Given the description of an element on the screen output the (x, y) to click on. 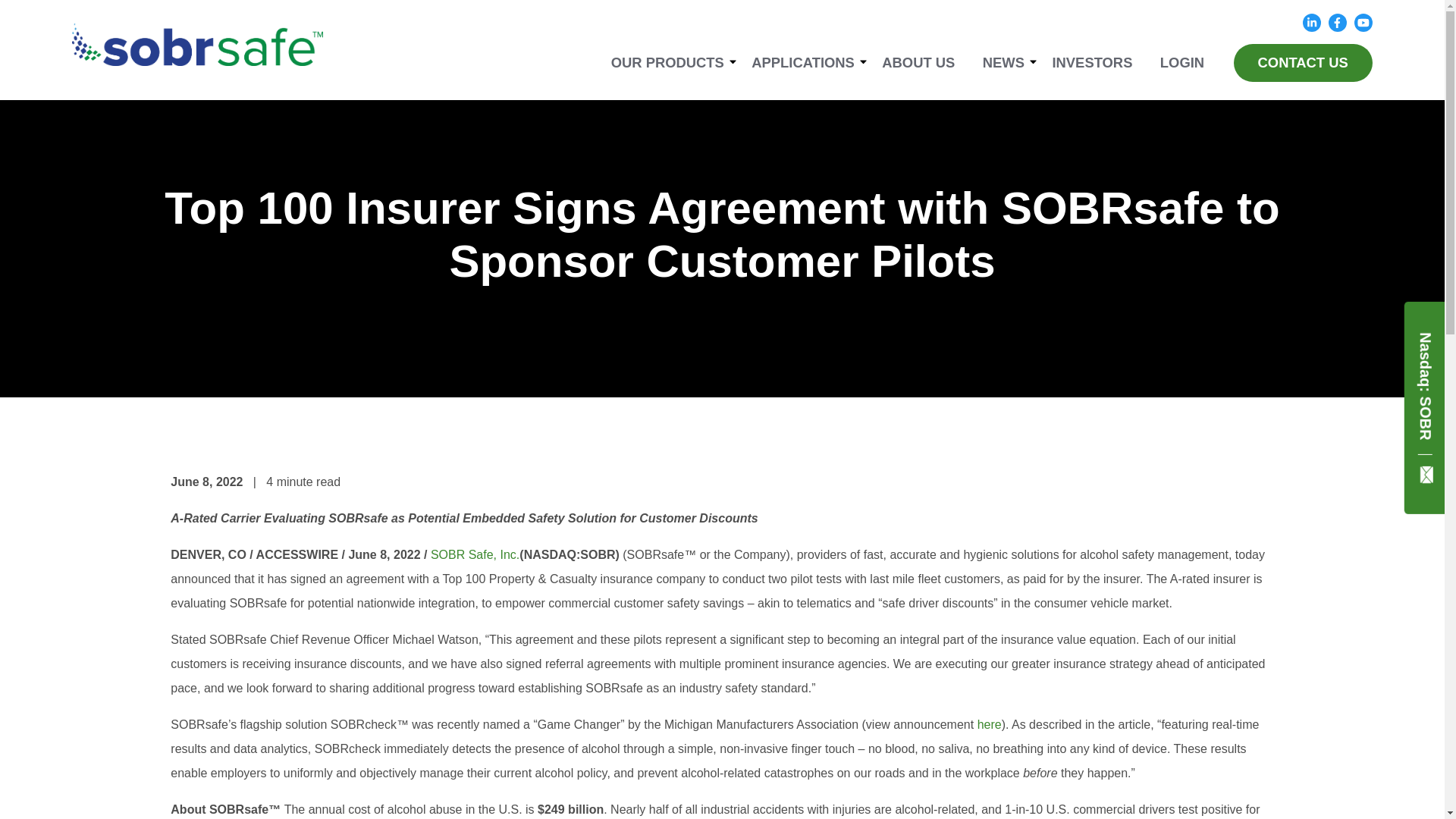
LOGIN (1181, 62)
SOBR Safe, Inc. (474, 554)
APPLICATIONS (802, 62)
ABOUT US (917, 62)
OUR PRODUCTS (667, 62)
here (988, 724)
NEWS (1003, 62)
CONTACT US (1303, 62)
INVESTORS (1091, 62)
